Given the description of an element on the screen output the (x, y) to click on. 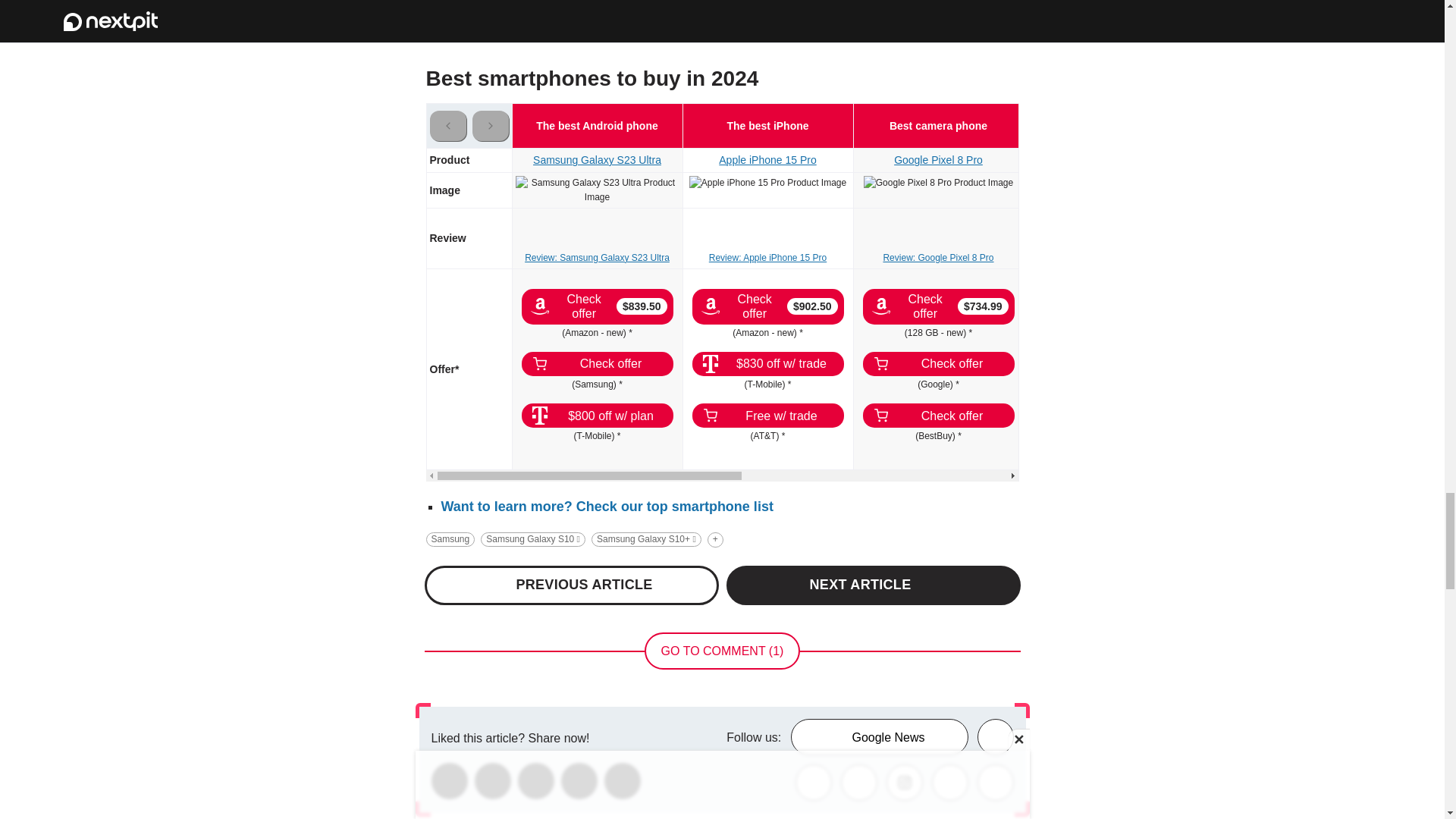
Apple iPhone 15 Pro Product Image (766, 183)
Google Pixel 7a Product Image (1108, 183)
Samsung Galaxy S23 Ultra Product Image (597, 190)
Google Pixel 8 Pro Product Image (938, 183)
